Given the description of an element on the screen output the (x, y) to click on. 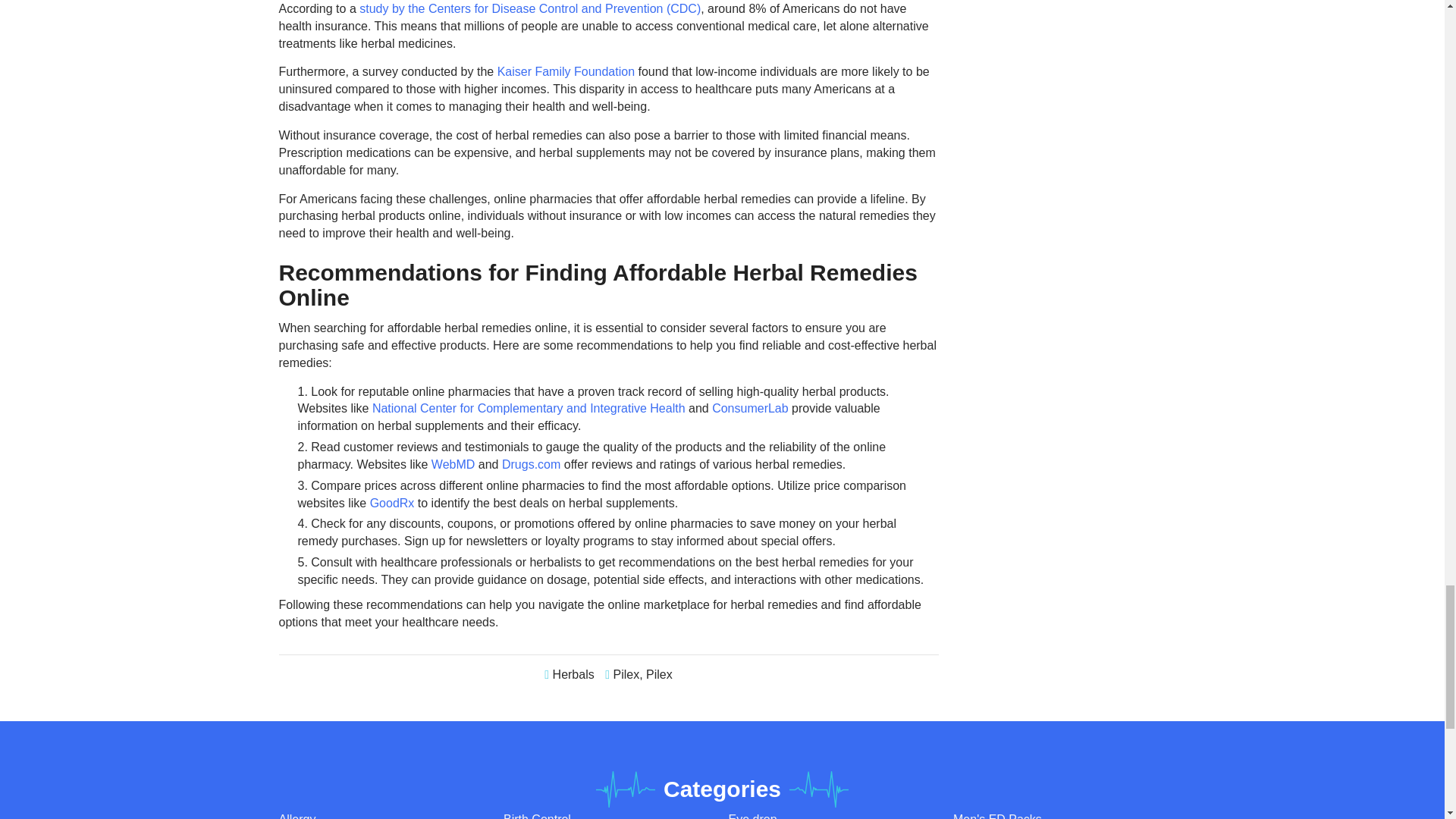
GoodRx (391, 502)
WebMD (453, 463)
Herbals (573, 674)
ConsumerLab (750, 408)
Drugs.com (531, 463)
Kaiser Family Foundation (565, 71)
National Center for Complementary and Integrative Health (528, 408)
